Given the description of an element on the screen output the (x, y) to click on. 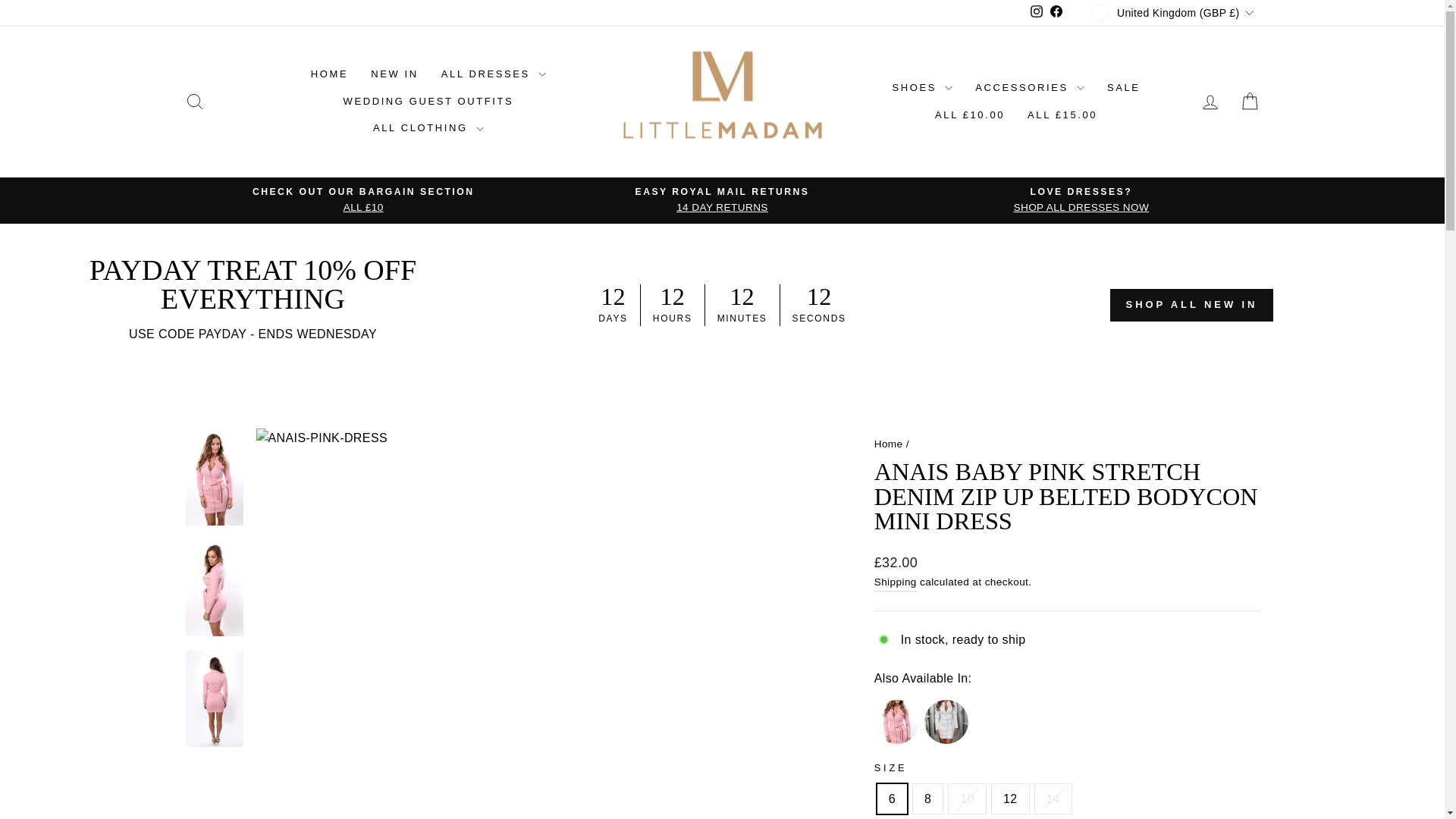
ICON-SEARCH (194, 101)
ACCOUNT (1210, 102)
instagram (1036, 10)
LittleMadam on Instagram (1036, 12)
LittleMadam on Facebook (1055, 12)
Back to the frontpage (888, 443)
